Given the description of an element on the screen output the (x, y) to click on. 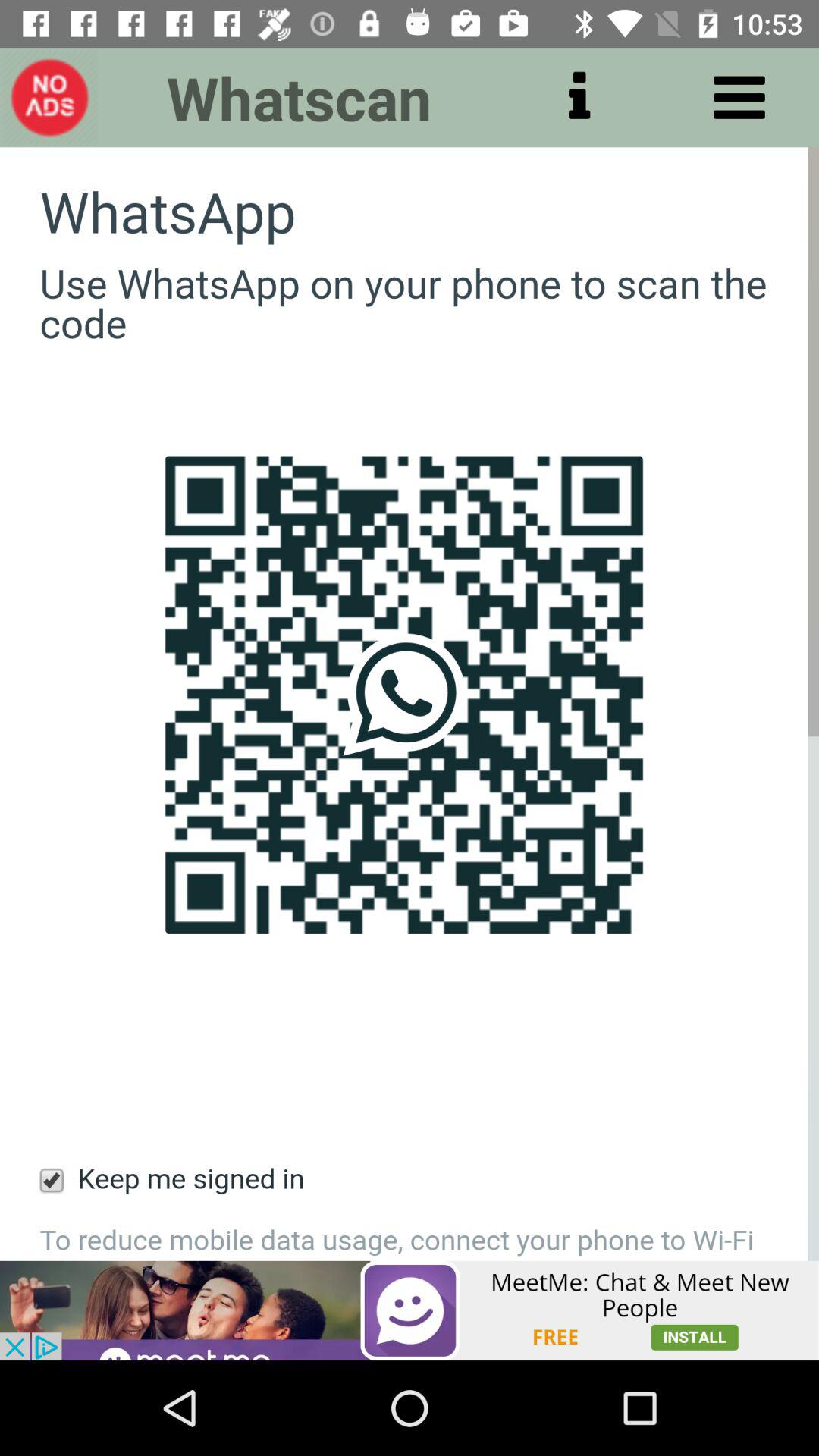
install meetme app (409, 1310)
